Given the description of an element on the screen output the (x, y) to click on. 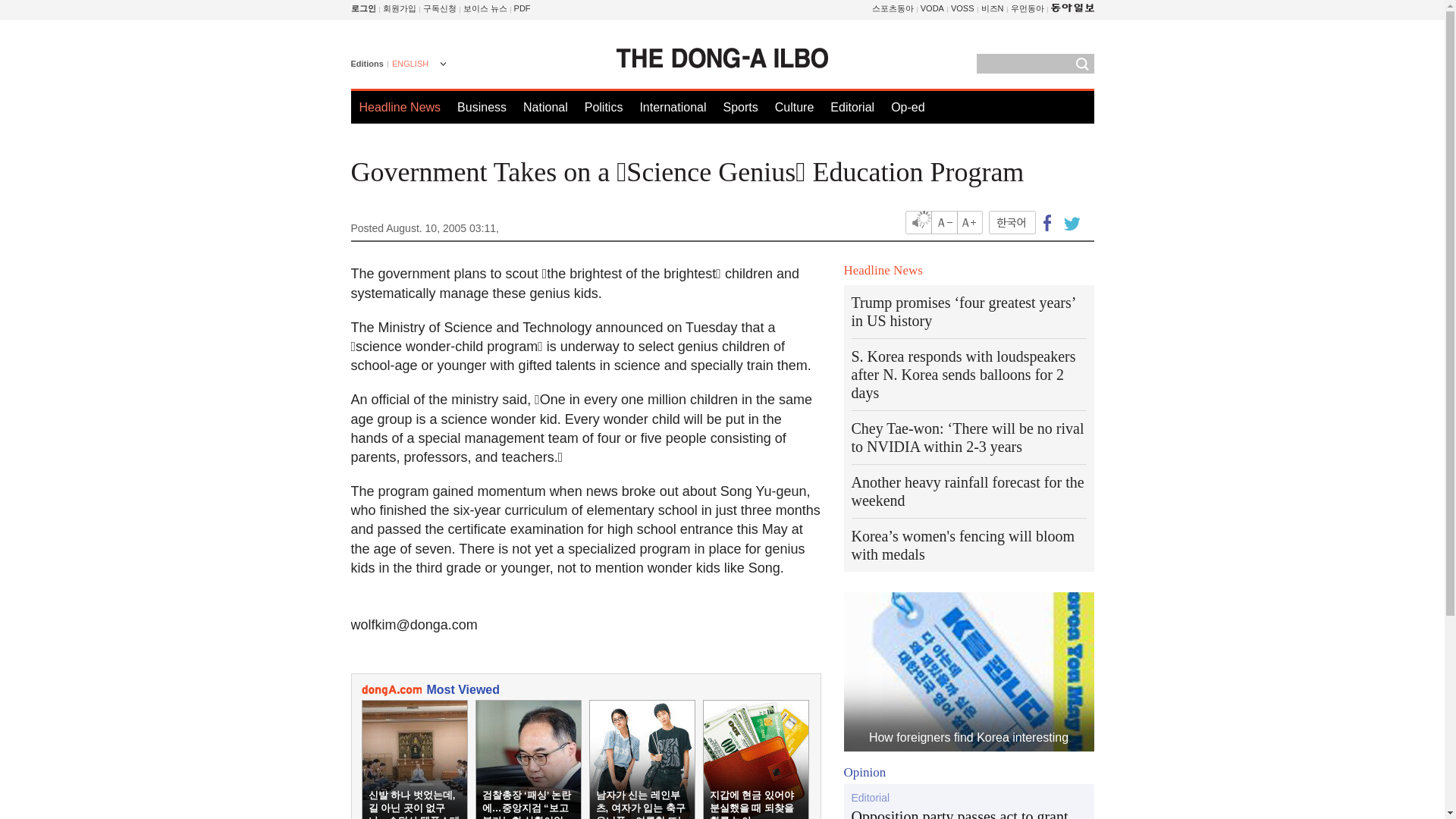
WOMAN (1026, 8)
Sports (739, 106)
Culture (793, 106)
VOSS (962, 8)
VOICE (484, 8)
VOSS (962, 8)
PDF (522, 8)
Politics (604, 106)
National (544, 106)
READERS (440, 8)
VODA (931, 8)
ENGLISH (416, 65)
Font size down (944, 222)
VODA (931, 8)
International (672, 106)
